Given the description of an element on the screen output the (x, y) to click on. 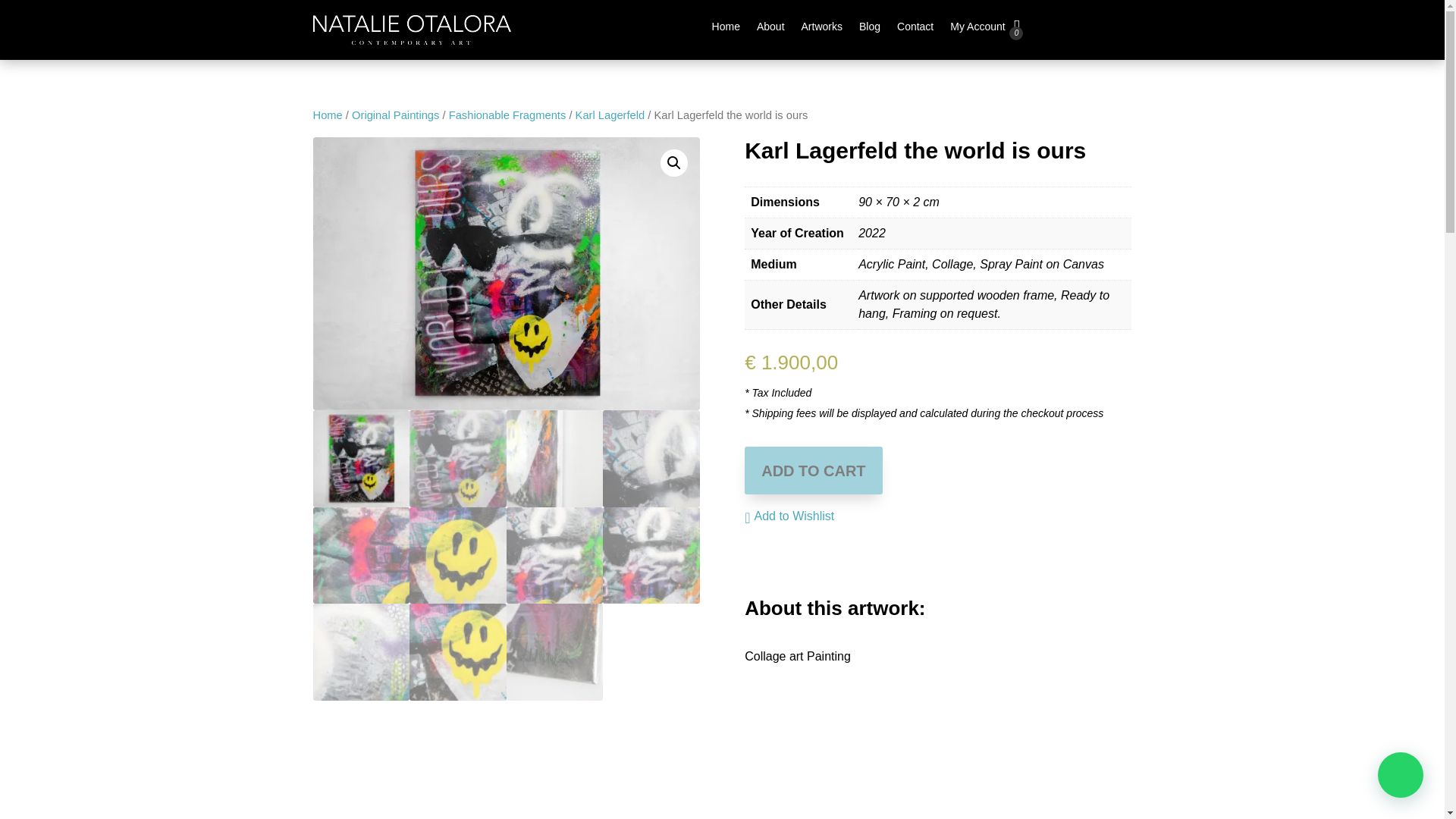
Home (327, 114)
About (770, 29)
Artworks (822, 29)
Karl Lagerfeld (610, 114)
Add to Wishlist (789, 516)
Original Paintings (395, 114)
ADD TO CART (813, 470)
Blog (869, 29)
My Account (977, 29)
Home (725, 29)
